Given the description of an element on the screen output the (x, y) to click on. 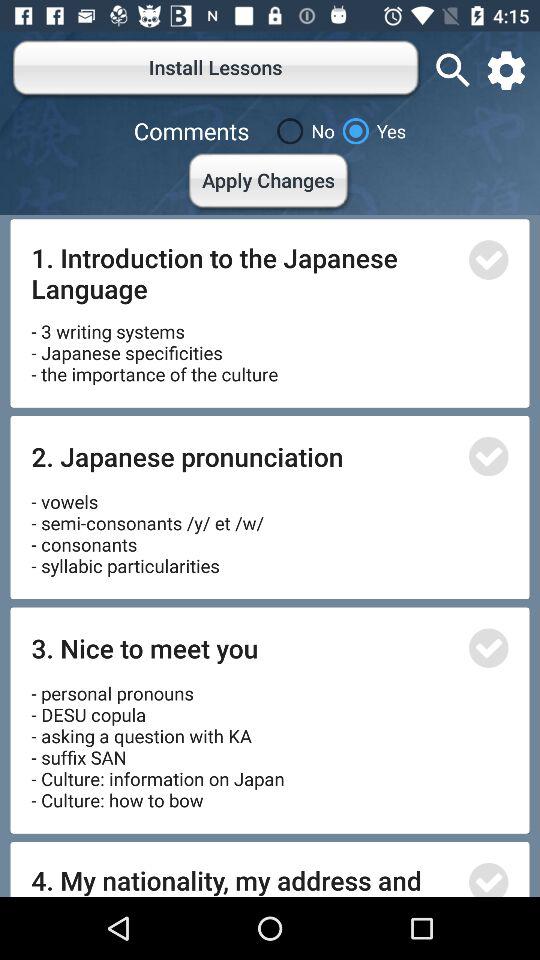
choose the icon above the 3 writing systems item (243, 272)
